Given the description of an element on the screen output the (x, y) to click on. 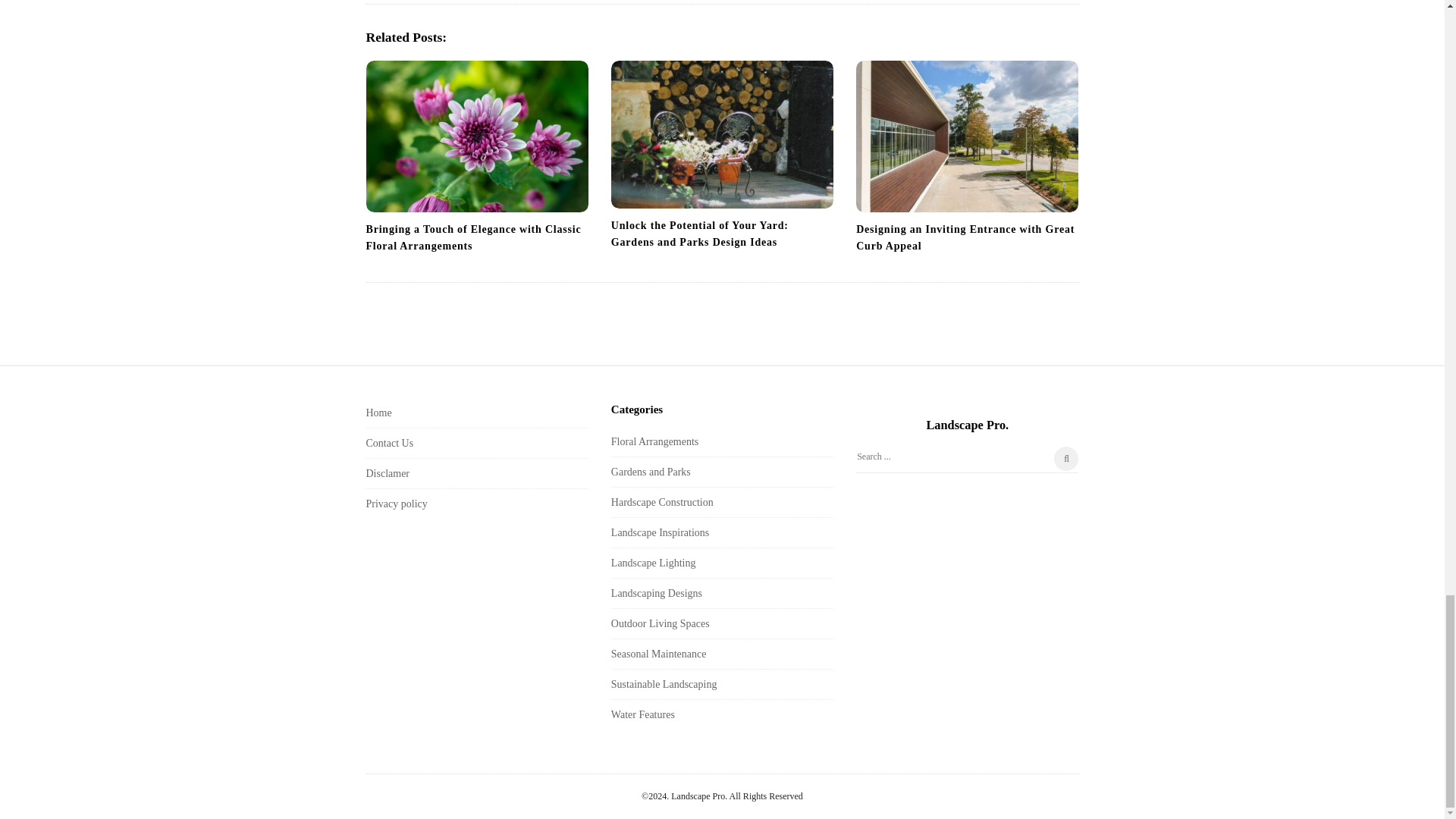
Designing an Inviting Entrance with Great Curb Appeal (965, 237)
Designing an Inviting Entrance with Great Curb Appeal (965, 237)
Designing an Inviting Entrance with Great Curb Appeal (967, 136)
